Given the description of an element on the screen output the (x, y) to click on. 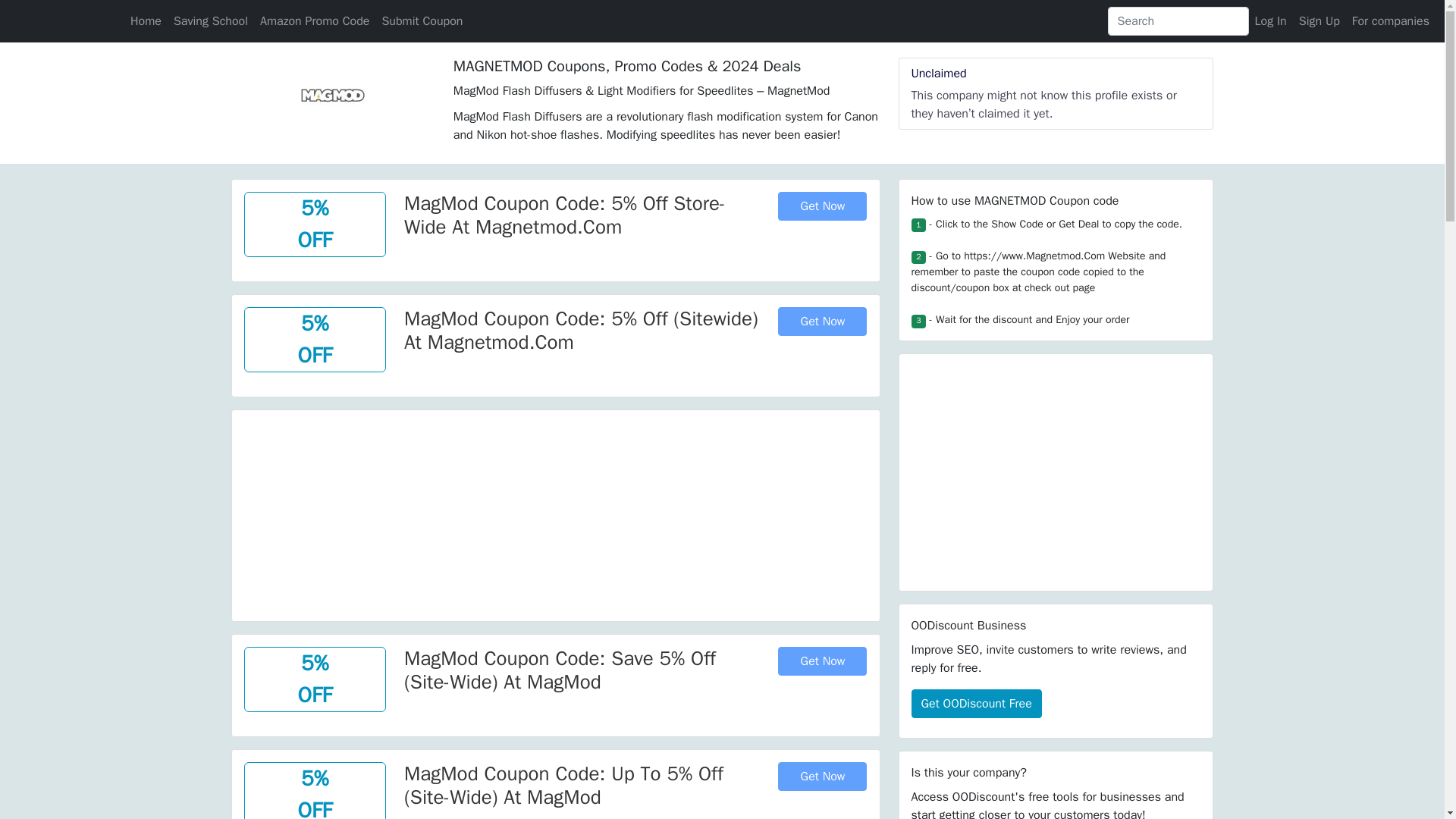
Log In (1270, 20)
Saving School (210, 20)
Submit Coupon (421, 20)
Get Now (821, 321)
For companies (1390, 20)
Get Now (821, 661)
Sign Up (1318, 20)
oodiscount (60, 20)
Get Now (821, 205)
Get Now (821, 776)
